Given the description of an element on the screen output the (x, y) to click on. 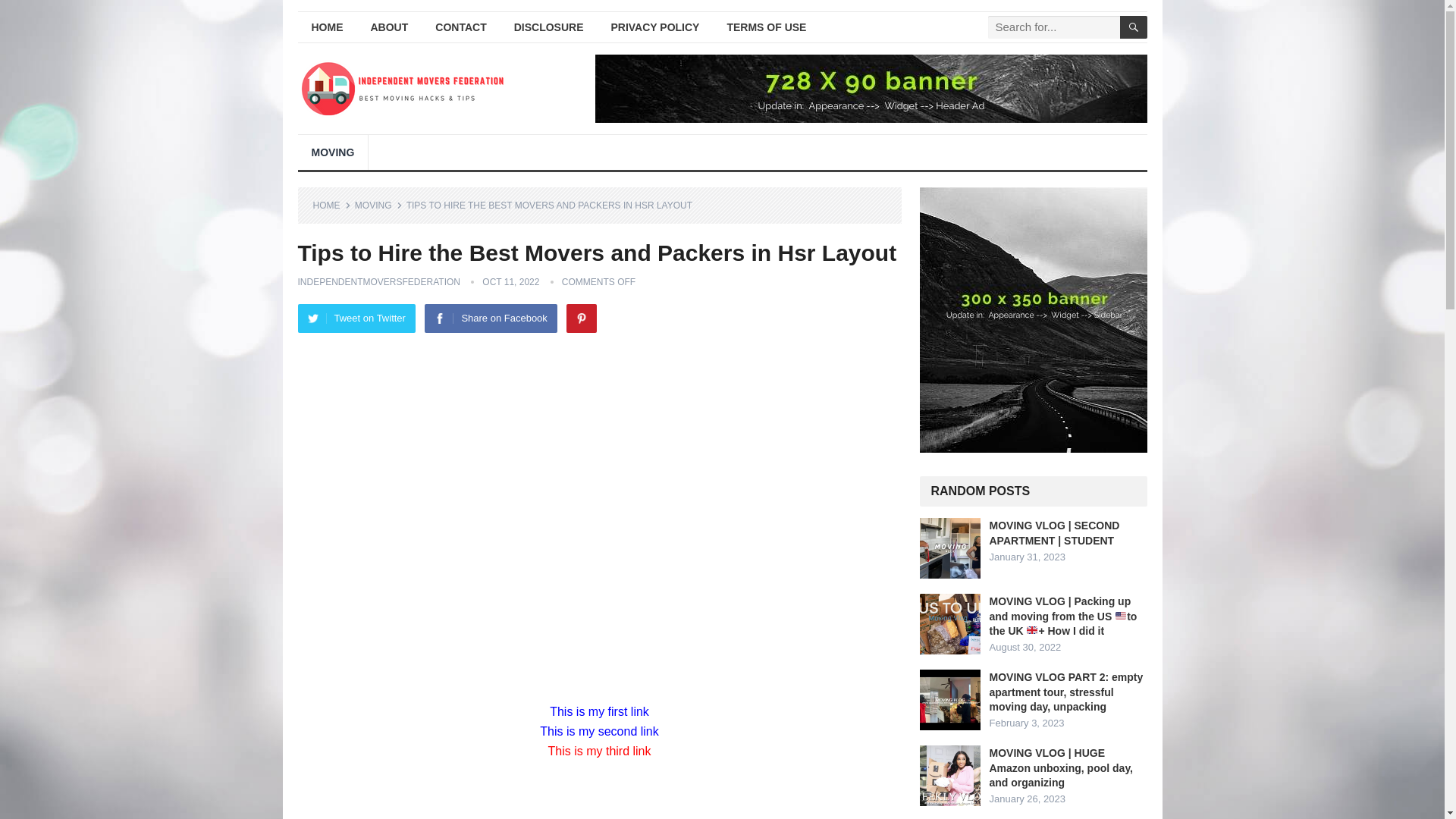
Tweet on Twitter (355, 317)
HOME (326, 27)
This is my third link (598, 750)
PRIVACY POLICY (654, 27)
Pinterest (581, 317)
Share on Facebook (490, 317)
Posts by IndependentMoversFederation (378, 281)
INDEPENDENTMOVERSFEDERATION (378, 281)
MOVING (332, 152)
This is my second link (599, 730)
This is my first link (599, 711)
MOVING (379, 204)
TERMS OF USE (766, 27)
View all posts in Moving (379, 204)
